Given the description of an element on the screen output the (x, y) to click on. 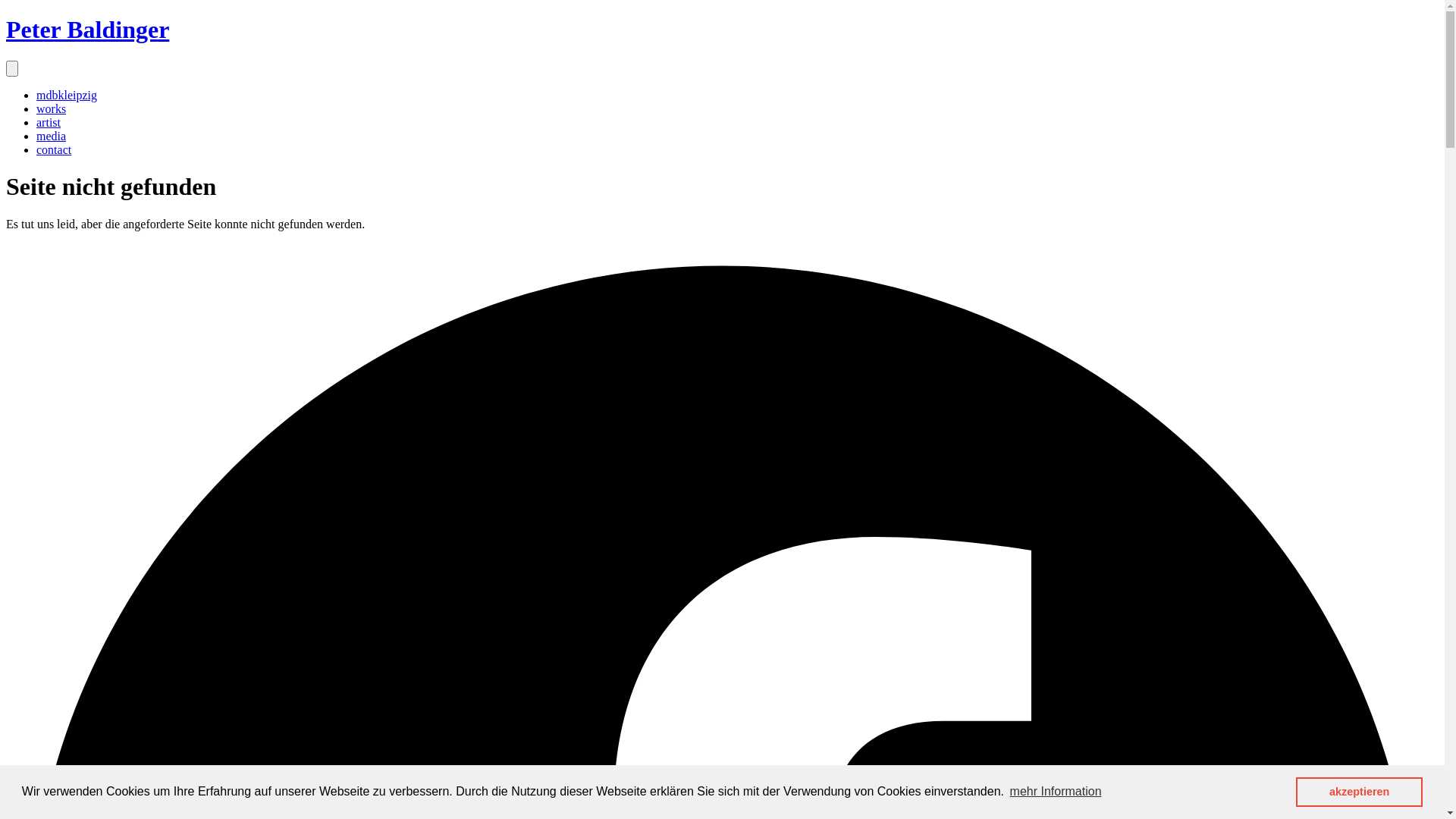
akzeptieren Element type: text (1358, 791)
Peter Baldinger Element type: text (87, 29)
mehr Information Element type: text (1055, 791)
media Element type: text (50, 135)
works Element type: text (50, 108)
artist Element type: text (48, 122)
contact Element type: text (53, 149)
mdbkleipzig Element type: text (66, 94)
